Given the description of an element on the screen output the (x, y) to click on. 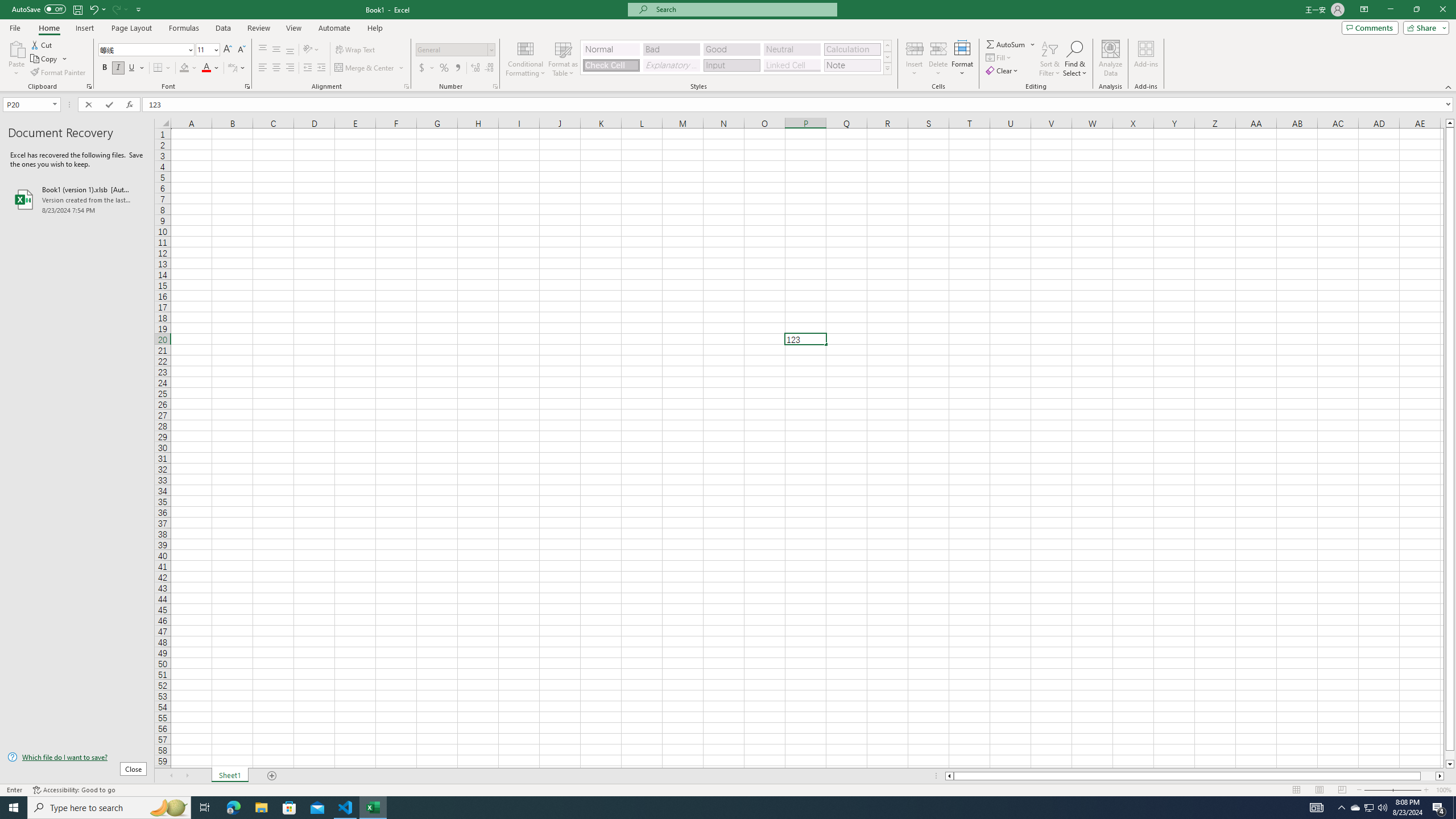
Undo (96, 9)
Name Box (27, 104)
Italic (118, 67)
Number Format (455, 49)
Zoom In (1426, 790)
Decrease Font Size (240, 49)
Font Size (204, 49)
Underline (131, 67)
Page right (1428, 775)
Decrease Decimal (489, 67)
Increase Font Size (227, 49)
Orientation (311, 49)
Font Color RGB(255, 0, 0) (206, 67)
Increase Indent (320, 67)
